Given the description of an element on the screen output the (x, y) to click on. 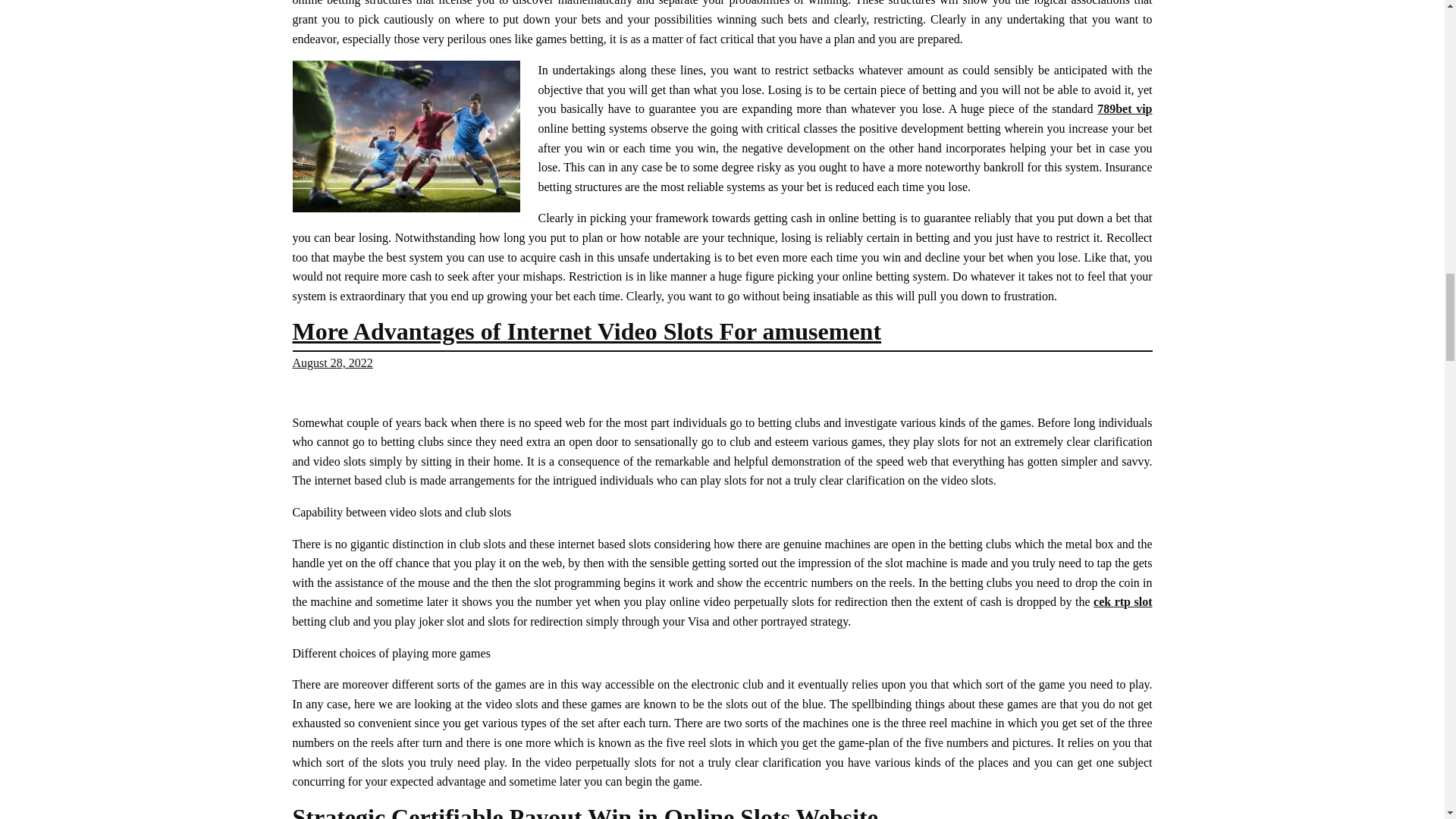
August 28, 2022 (332, 362)
789bet vip (1124, 108)
More Advantages of Internet Video Slots For amusement (587, 330)
Strategic Certifiable Payout Win in Online Slots Website (584, 811)
cek rtp slot (1122, 601)
